Given the description of an element on the screen output the (x, y) to click on. 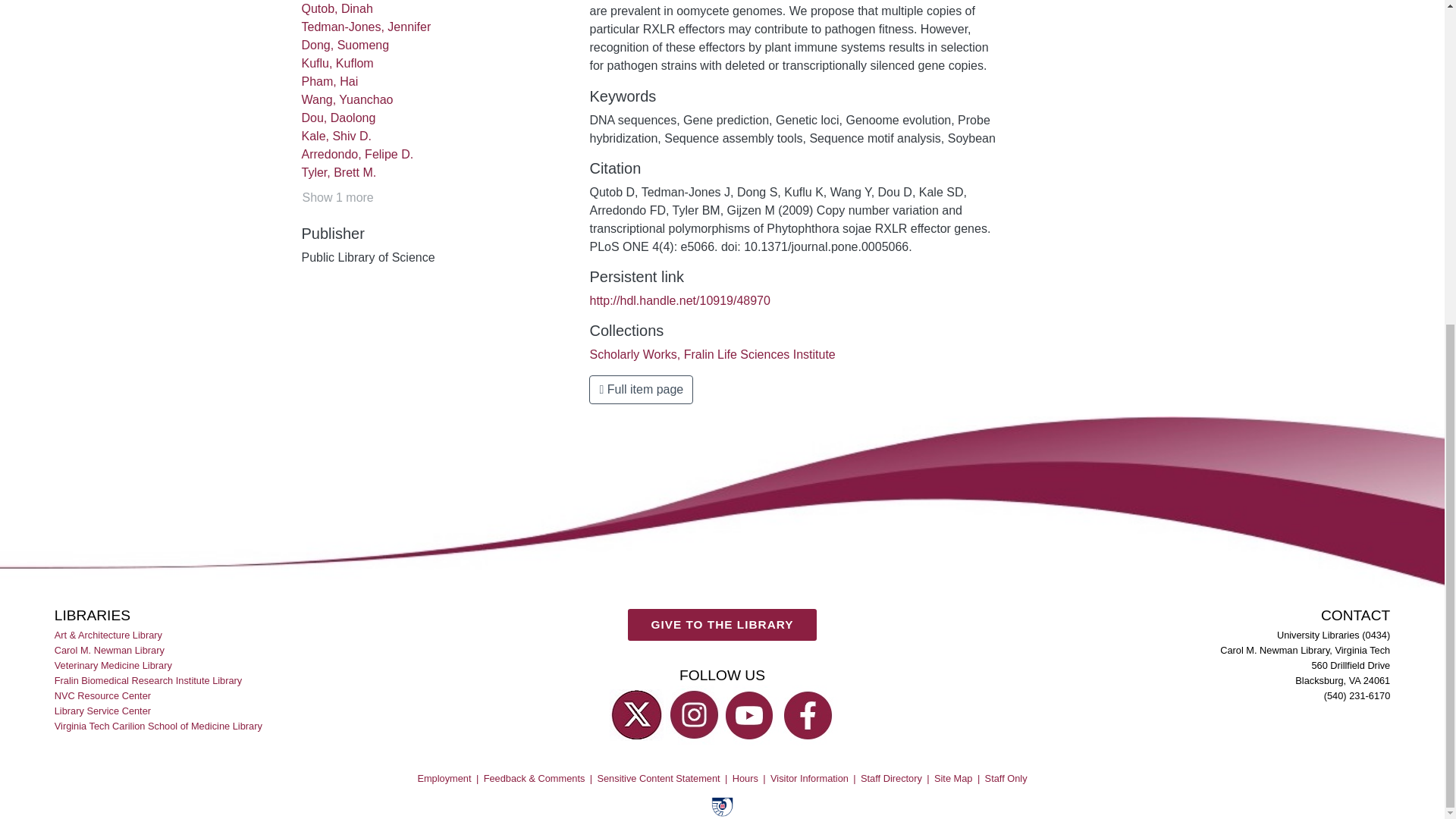
Dou, Daolong (338, 117)
Dong, Suomeng (345, 44)
Show 1 more (337, 198)
Kale, Shiv D. (336, 135)
Pham, Hai (329, 81)
Qutob, Dinah (336, 8)
Arredondo, Felipe D. (357, 154)
Tyler, Brett M. (339, 172)
Tedman-Jones, Jennifer (365, 26)
Kuflu, Kuflom (337, 62)
Wang, Yuanchao (347, 99)
